Given the description of an element on the screen output the (x, y) to click on. 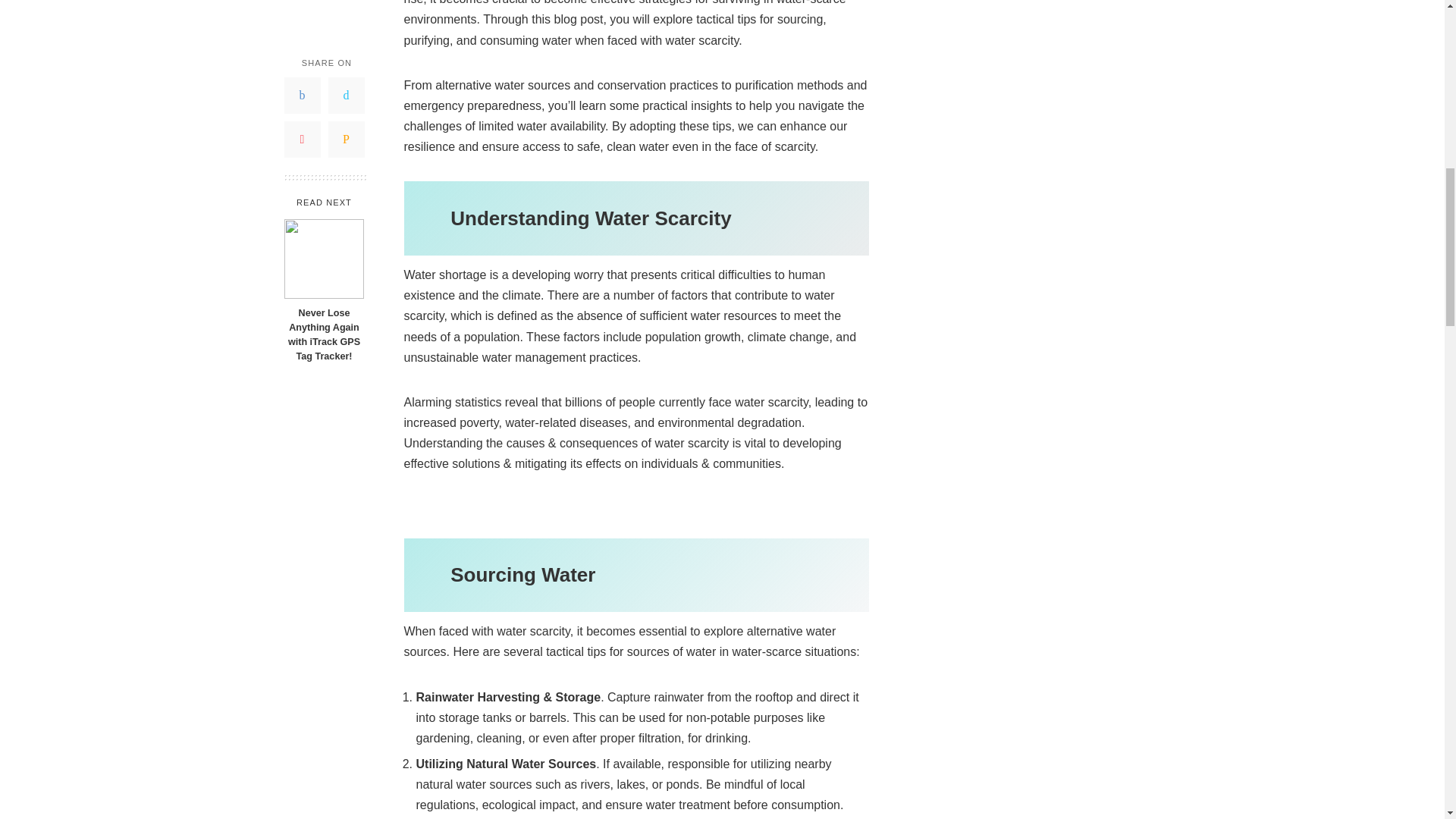
Email (345, 31)
Facebook (301, 2)
Pinterest (301, 31)
Twitter (345, 2)
